Given the description of an element on the screen output the (x, y) to click on. 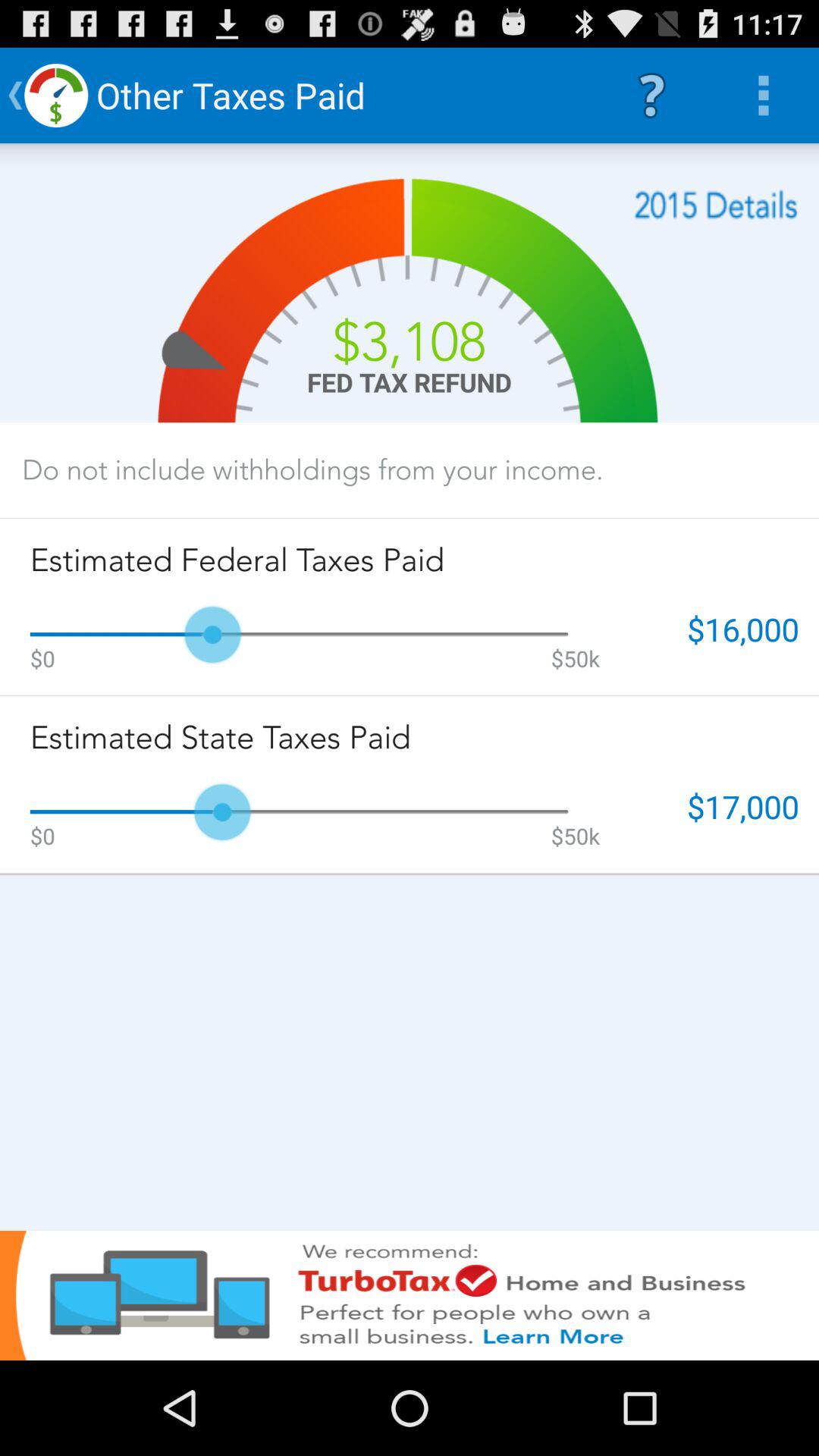
details from 2015 (715, 204)
